Given the description of an element on the screen output the (x, y) to click on. 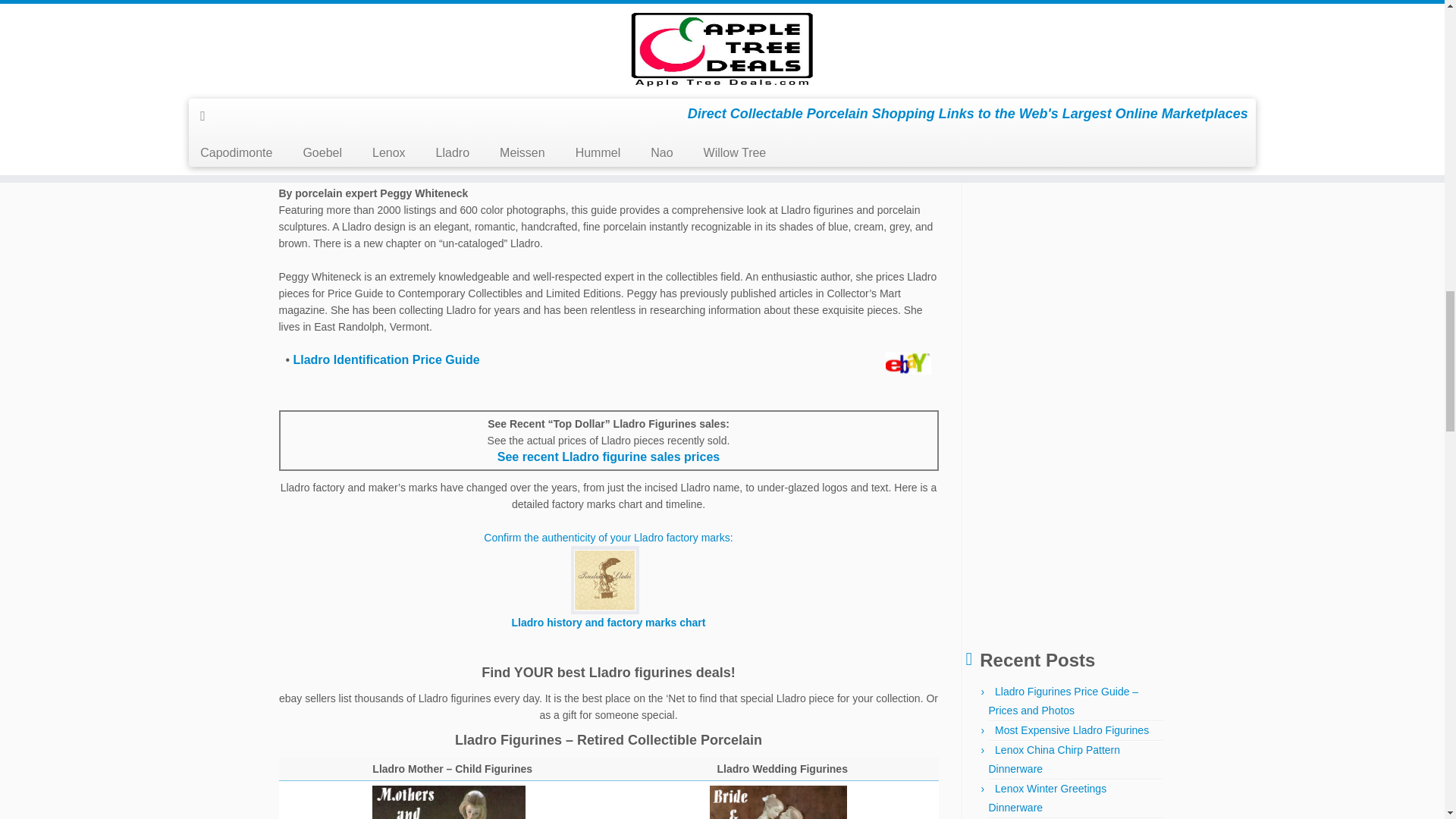
See recent Lladro figurine sales prices (608, 456)
Lladro Identification Price Guide (385, 359)
See the history of how the Lladro and Maker's Marks (607, 579)
